Given the description of an element on the screen output the (x, y) to click on. 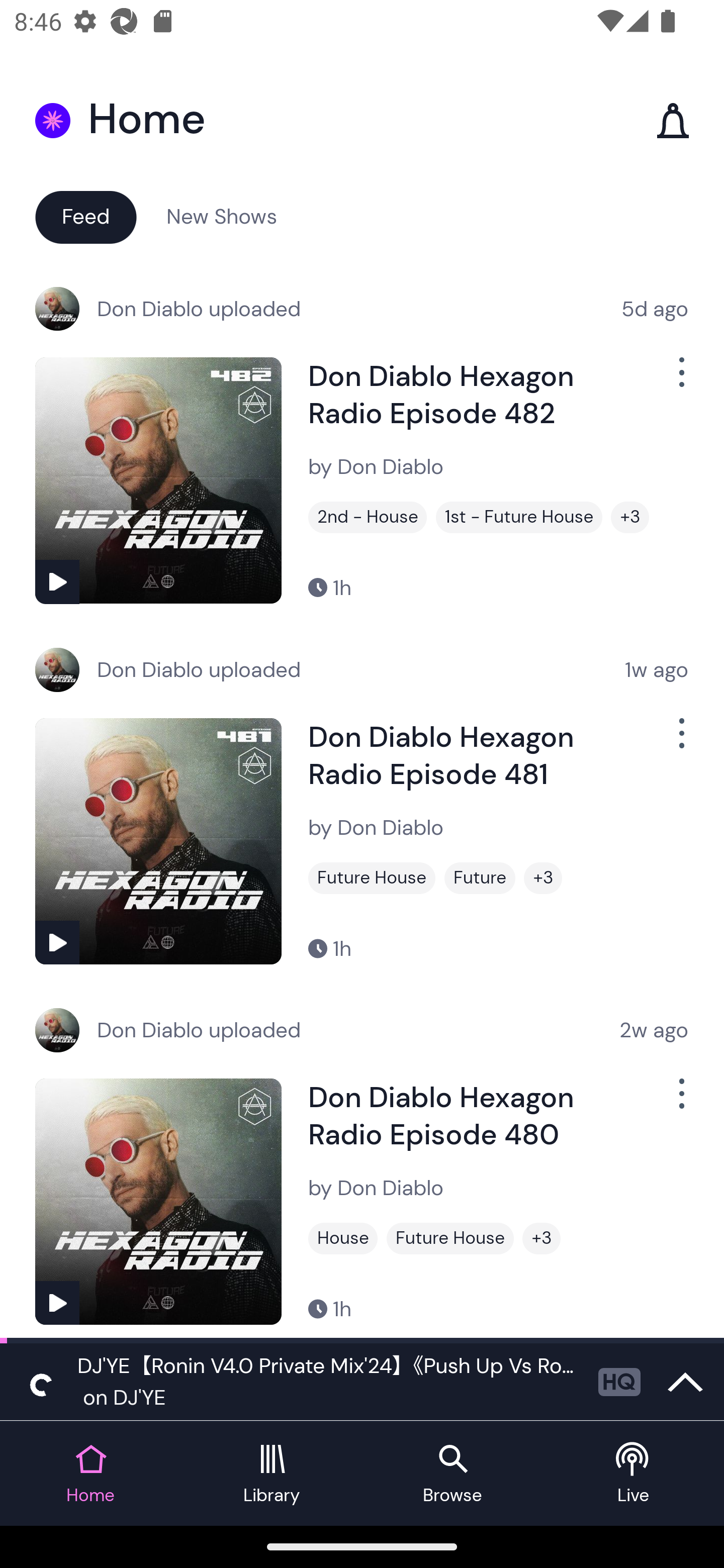
Feed (85, 216)
New Shows (221, 216)
Show Options Menu Button (679, 379)
2nd - House (367, 517)
1st - Future House (518, 517)
Show Options Menu Button (679, 740)
Future House (371, 877)
Future (479, 877)
Show Options Menu Button (679, 1101)
House (342, 1238)
Future House (450, 1238)
Home tab Home (90, 1473)
Library tab Library (271, 1473)
Browse tab Browse (452, 1473)
Live tab Live (633, 1473)
